Given the description of an element on the screen output the (x, y) to click on. 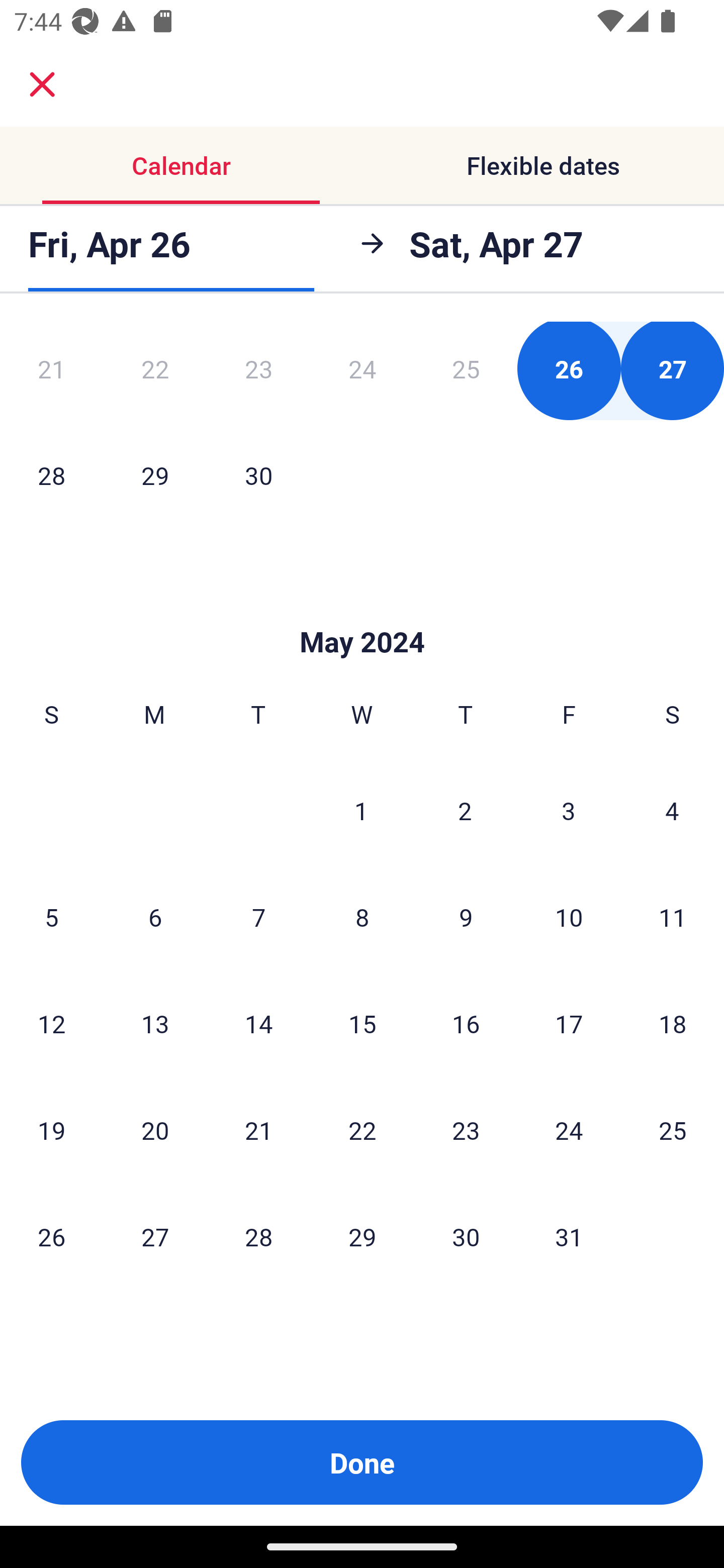
close. (42, 84)
Flexible dates (542, 164)
21 Sunday, April 21, 2024 (51, 370)
22 Monday, April 22, 2024 (155, 370)
23 Tuesday, April 23, 2024 (258, 370)
24 Wednesday, April 24, 2024 (362, 370)
25 Thursday, April 25, 2024 (465, 370)
28 Sunday, April 28, 2024 (51, 474)
29 Monday, April 29, 2024 (155, 474)
30 Tuesday, April 30, 2024 (258, 474)
Skip to Done (362, 611)
1 Wednesday, May 1, 2024 (361, 810)
2 Thursday, May 2, 2024 (464, 810)
3 Friday, May 3, 2024 (568, 810)
4 Saturday, May 4, 2024 (672, 810)
5 Sunday, May 5, 2024 (51, 917)
6 Monday, May 6, 2024 (155, 917)
7 Tuesday, May 7, 2024 (258, 917)
8 Wednesday, May 8, 2024 (362, 917)
9 Thursday, May 9, 2024 (465, 917)
10 Friday, May 10, 2024 (569, 917)
11 Saturday, May 11, 2024 (672, 917)
12 Sunday, May 12, 2024 (51, 1023)
13 Monday, May 13, 2024 (155, 1023)
14 Tuesday, May 14, 2024 (258, 1023)
15 Wednesday, May 15, 2024 (362, 1023)
16 Thursday, May 16, 2024 (465, 1023)
17 Friday, May 17, 2024 (569, 1023)
18 Saturday, May 18, 2024 (672, 1023)
19 Sunday, May 19, 2024 (51, 1130)
20 Monday, May 20, 2024 (155, 1130)
21 Tuesday, May 21, 2024 (258, 1130)
22 Wednesday, May 22, 2024 (362, 1130)
23 Thursday, May 23, 2024 (465, 1130)
24 Friday, May 24, 2024 (569, 1130)
25 Saturday, May 25, 2024 (672, 1130)
26 Sunday, May 26, 2024 (51, 1236)
27 Monday, May 27, 2024 (155, 1236)
28 Tuesday, May 28, 2024 (258, 1236)
29 Wednesday, May 29, 2024 (362, 1236)
30 Thursday, May 30, 2024 (465, 1236)
31 Friday, May 31, 2024 (569, 1236)
Done (361, 1462)
